Given the description of an element on the screen output the (x, y) to click on. 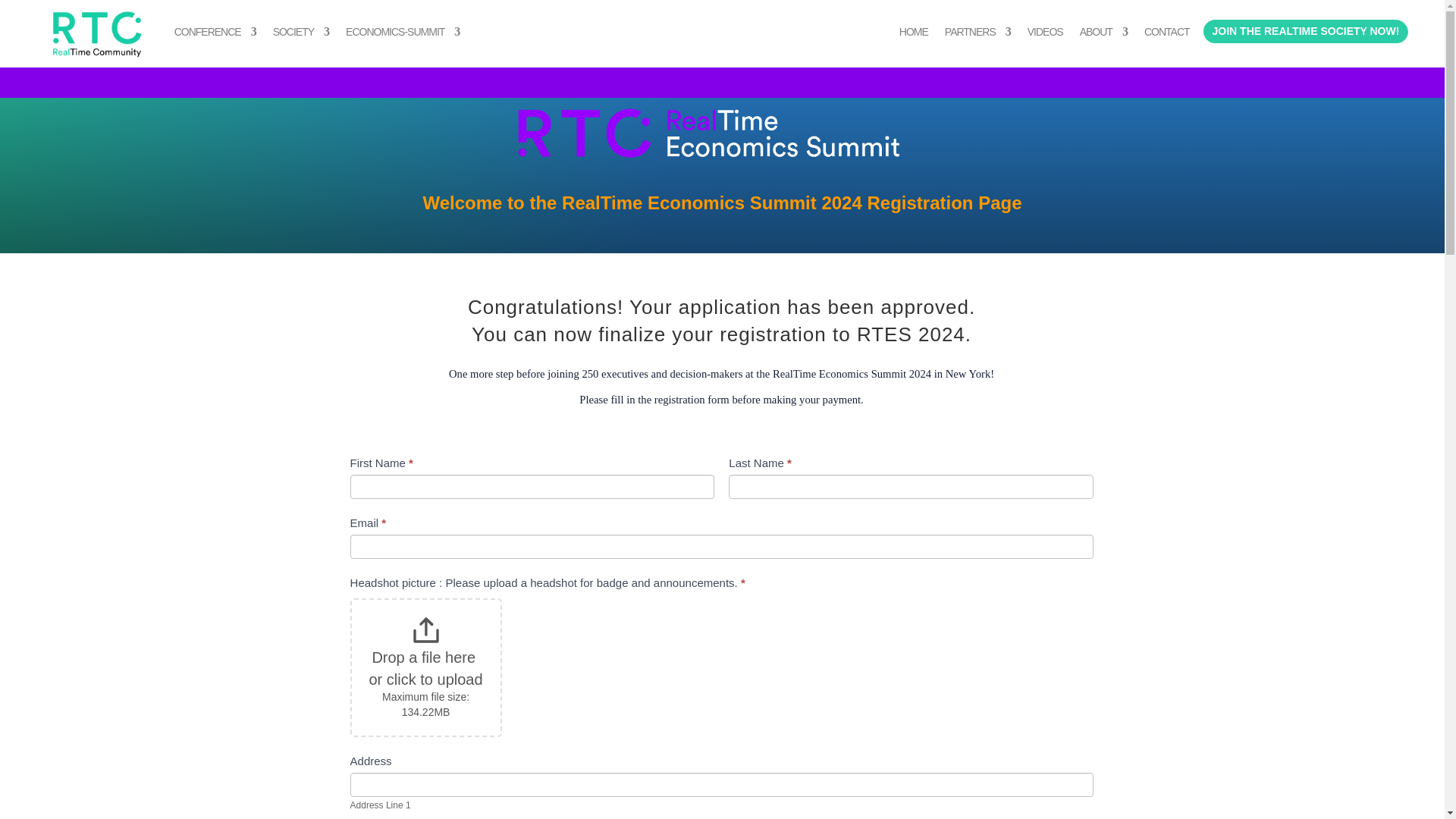
SOCIETY (301, 34)
RealTime-Society-home-logo-72 (721, 145)
CONFERENCE (215, 34)
